Given the description of an element on the screen output the (x, y) to click on. 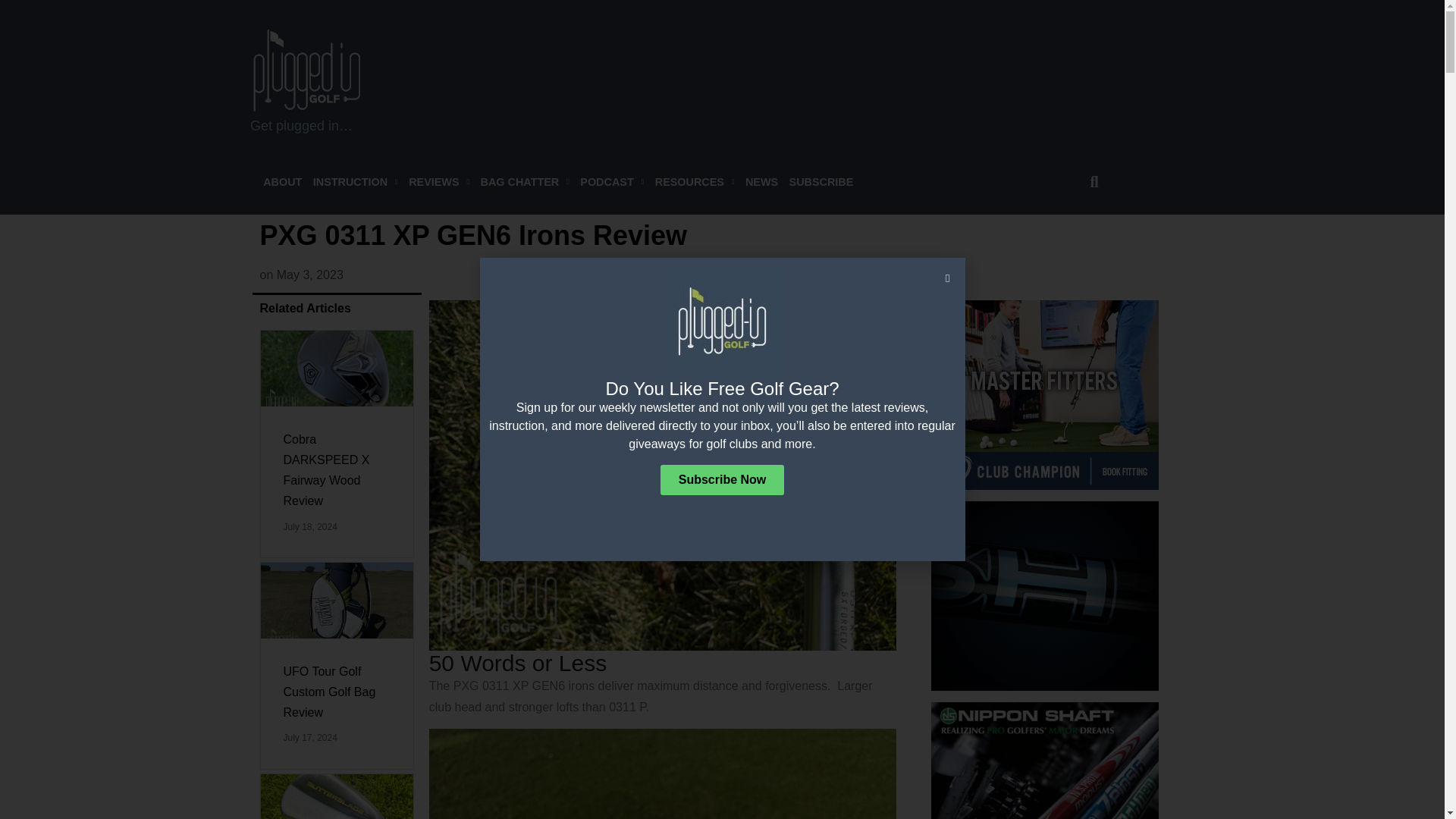
REVIEWS (438, 181)
INSTRUCTION (355, 181)
ABOUT (282, 181)
Plugged-In-Golf-White-on-Blue-e1597419240829 (307, 70)
search-button (1093, 182)
BAG CHATTER (524, 181)
